Given the description of an element on the screen output the (x, y) to click on. 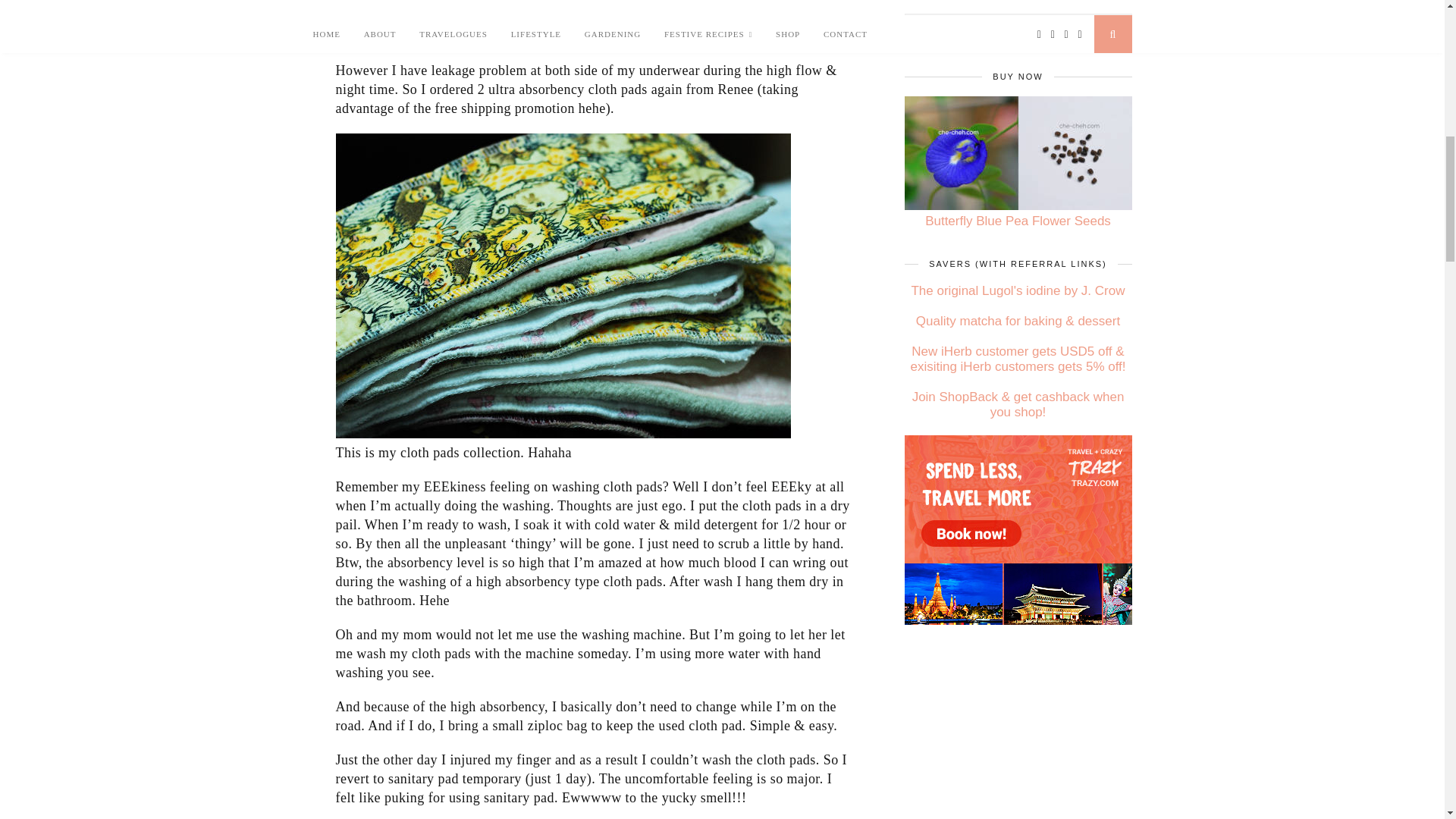
Advertisement (592, 15)
